Given the description of an element on the screen output the (x, y) to click on. 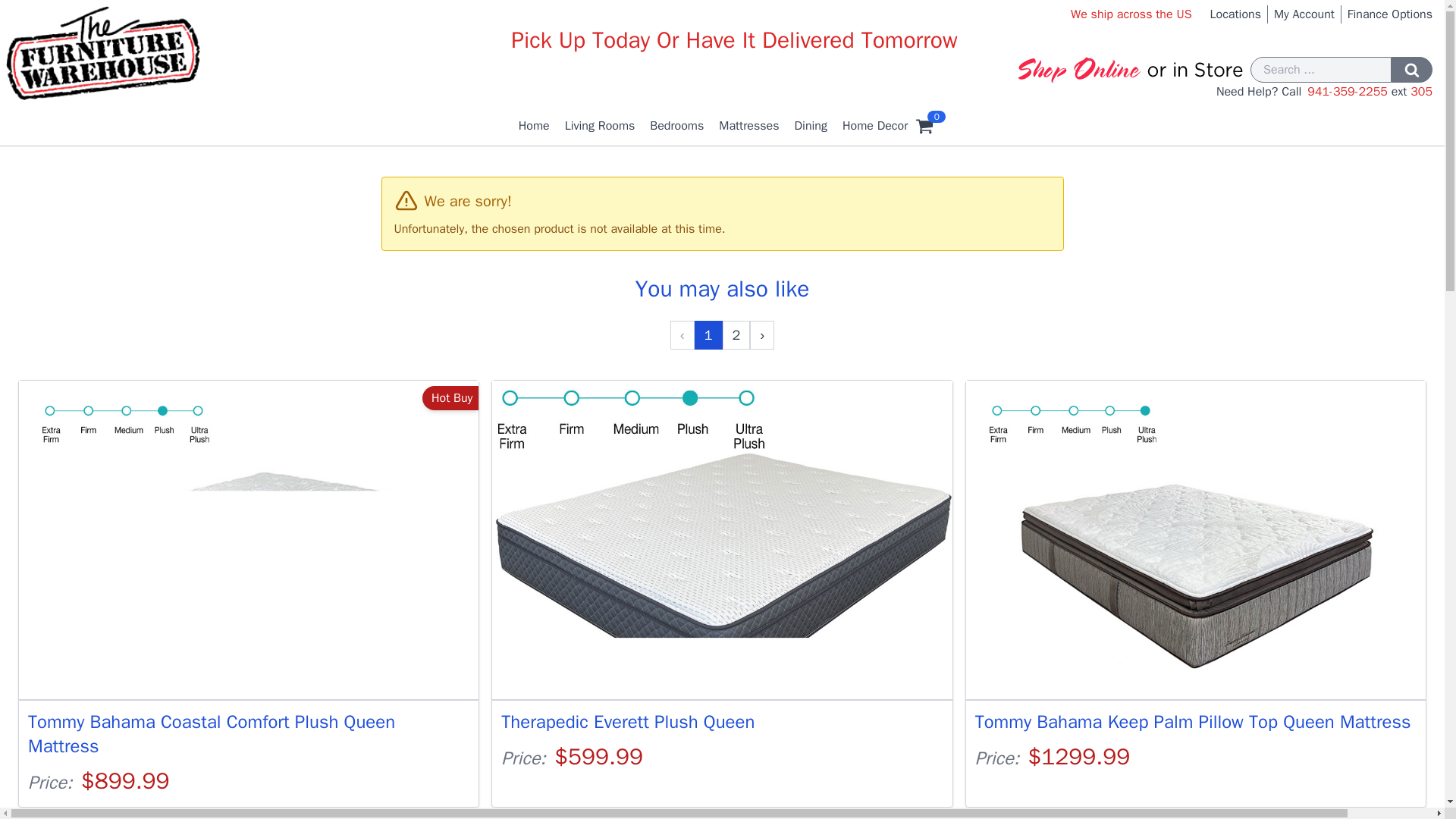
Locations (1234, 14)
My Account (1304, 14)
Finance Options (1390, 14)
941-359-2255 ext 305 (1369, 91)
Home (534, 125)
Living Rooms (600, 125)
